Given the description of an element on the screen output the (x, y) to click on. 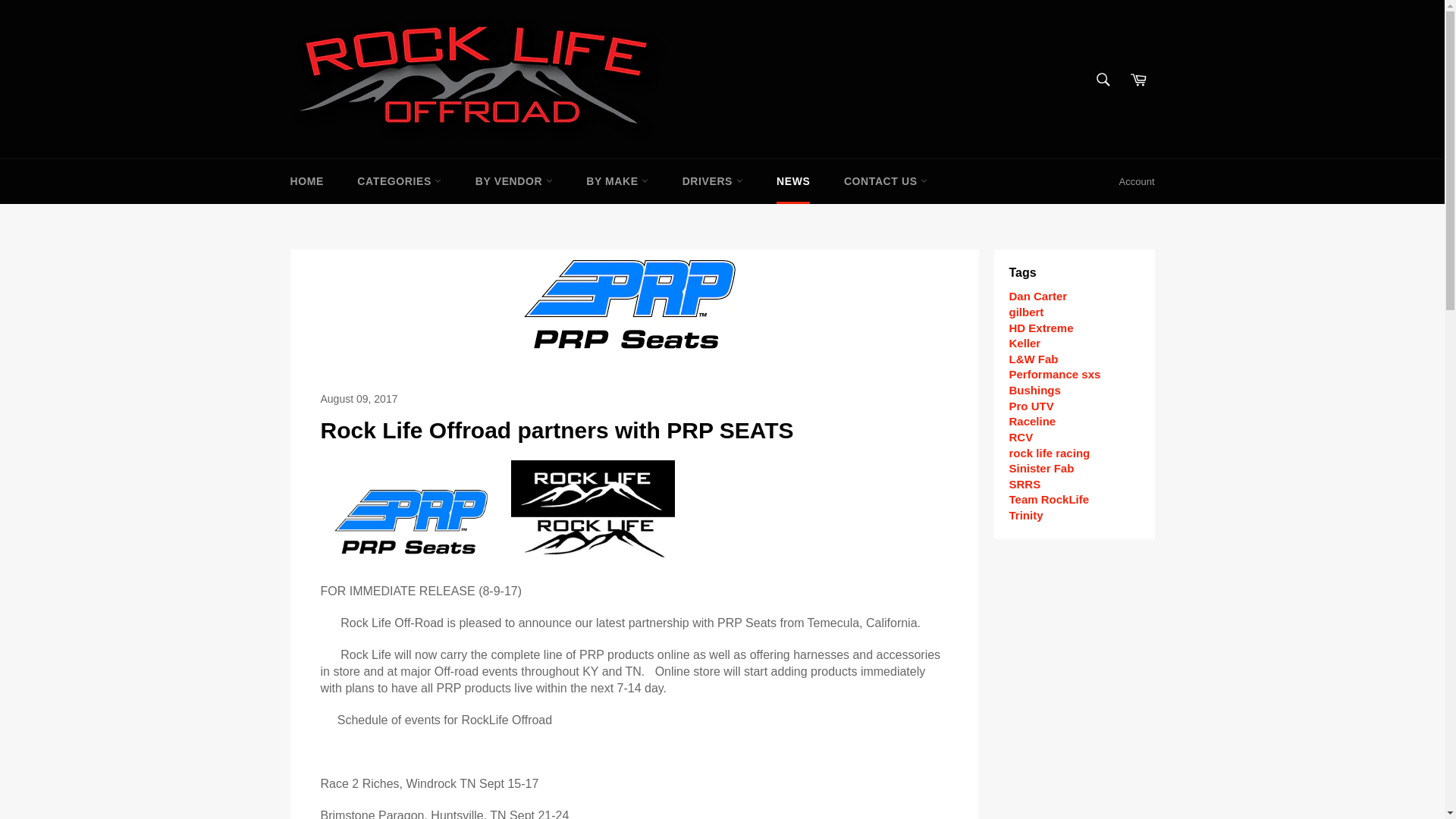
Show articles tagged gilbert (1026, 311)
Show articles tagged SRRS (1025, 483)
Show articles tagged RCV (1020, 436)
Show articles tagged Sinister Fab (1041, 468)
Show articles tagged Dan Carter (1038, 295)
Show articles tagged Performance sxs Bushings (1054, 381)
Show articles tagged HD Extreme (1041, 327)
Show articles tagged Team RockLife (1049, 499)
Show articles tagged Pro UTV (1030, 405)
Show articles tagged Keller (1025, 342)
Show articles tagged Raceline (1032, 420)
Show articles tagged Trinity (1025, 514)
Show articles tagged rock life racing (1049, 451)
